Given the description of an element on the screen output the (x, y) to click on. 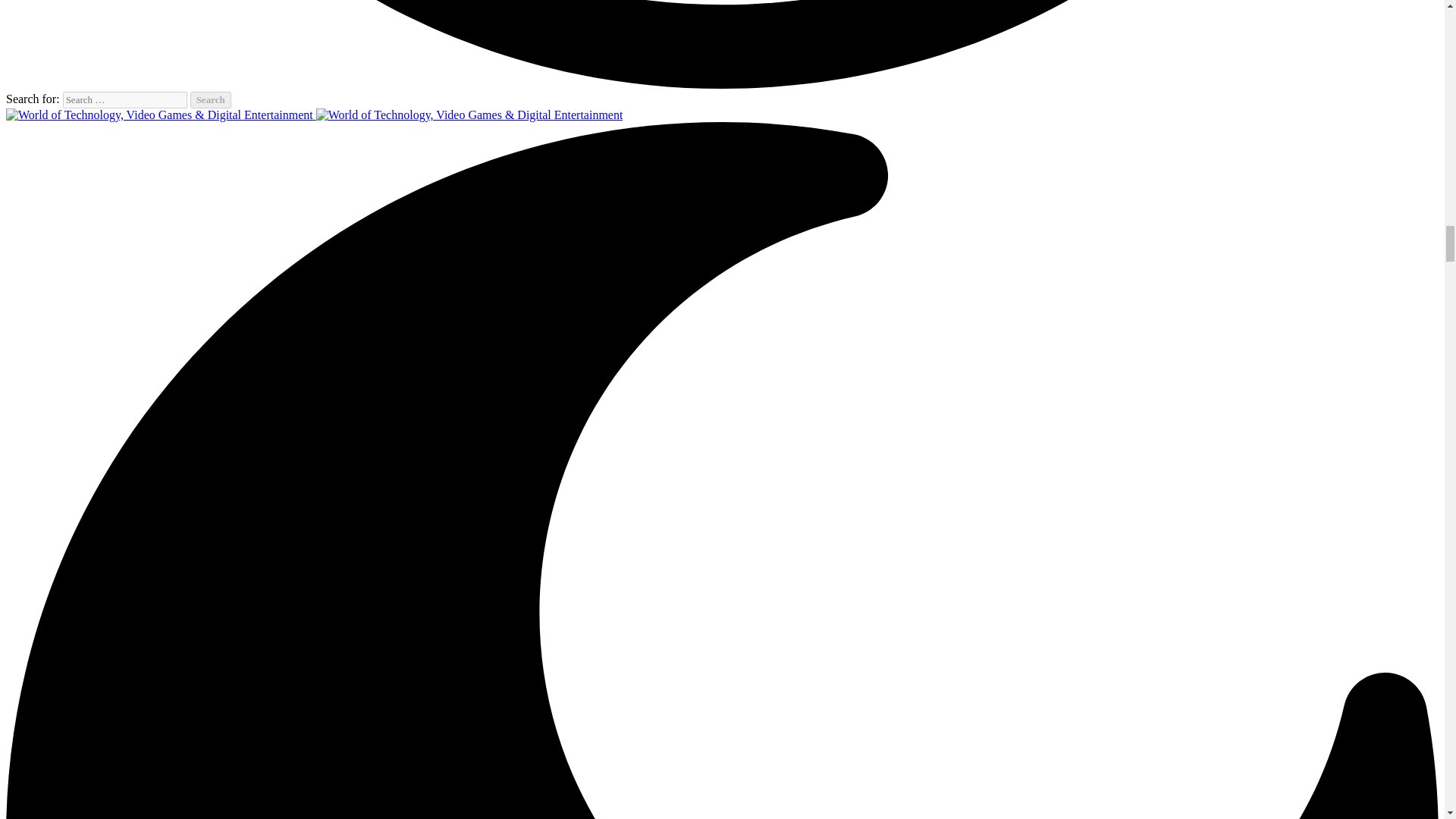
Search (210, 99)
Search (210, 99)
